Given the description of an element on the screen output the (x, y) to click on. 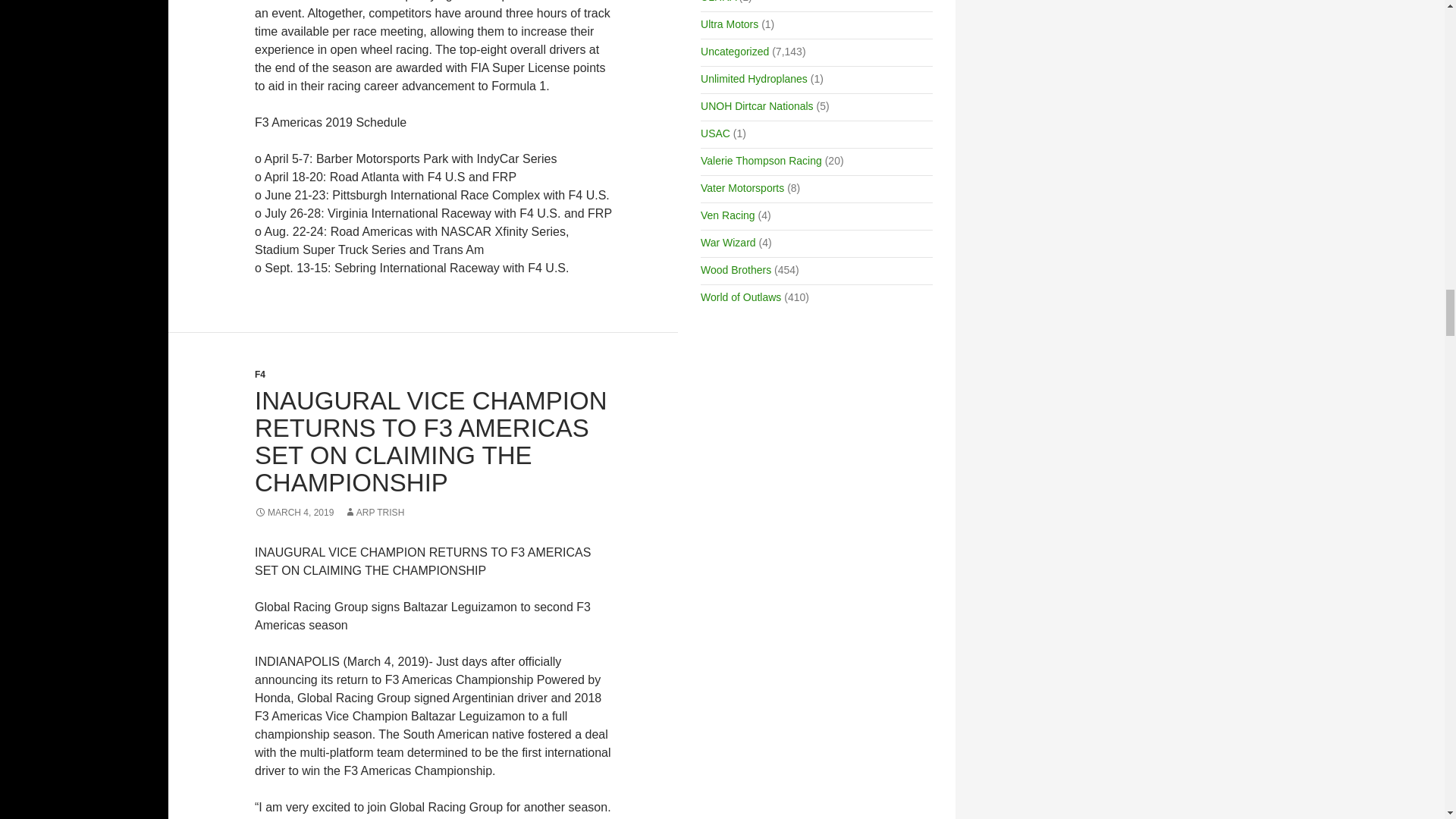
F4 (259, 374)
MARCH 4, 2019 (293, 511)
ARP TRISH (373, 511)
